Given the description of an element on the screen output the (x, y) to click on. 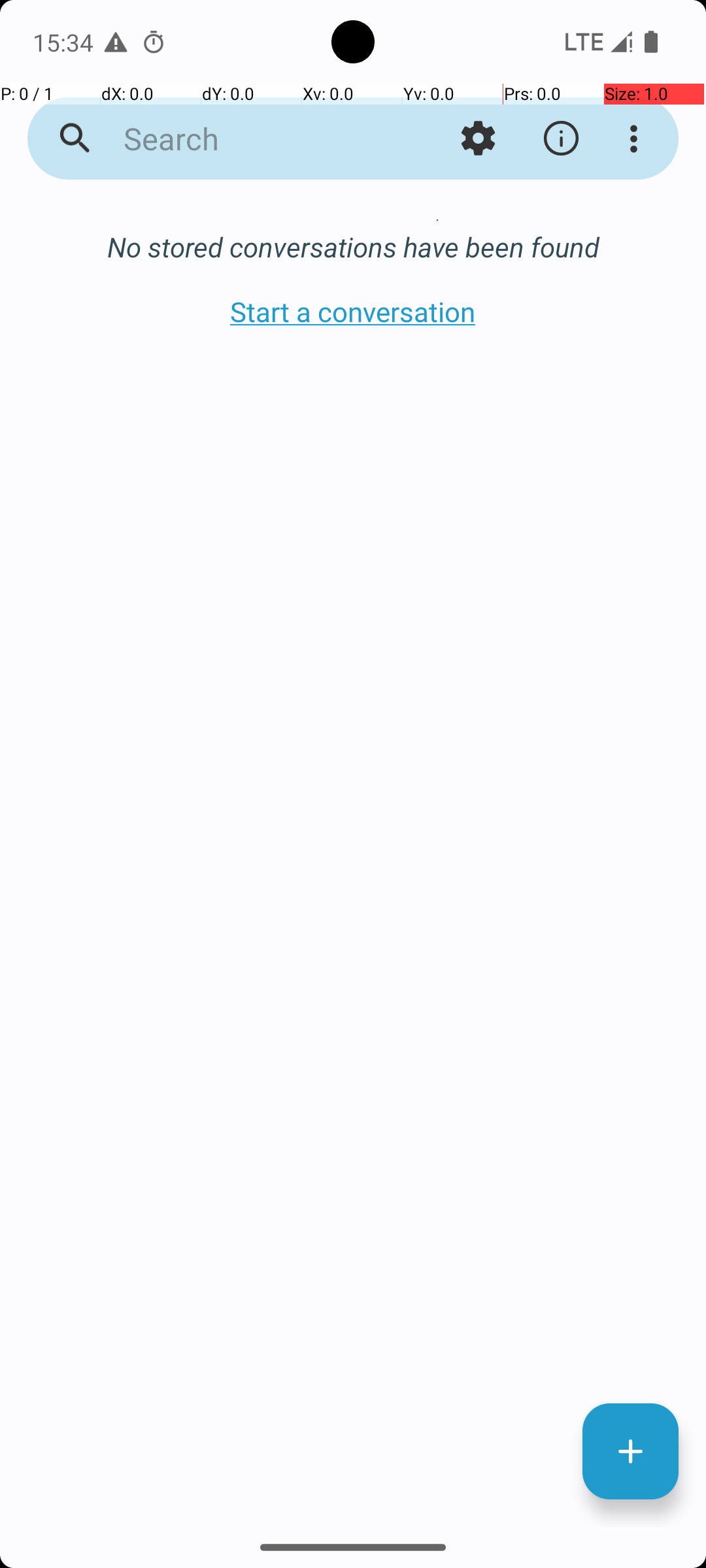
No stored conversations have been found Element type: android.widget.TextView (353, 246)
Start a conversation Element type: android.widget.TextView (352, 311)
